Given the description of an element on the screen output the (x, y) to click on. 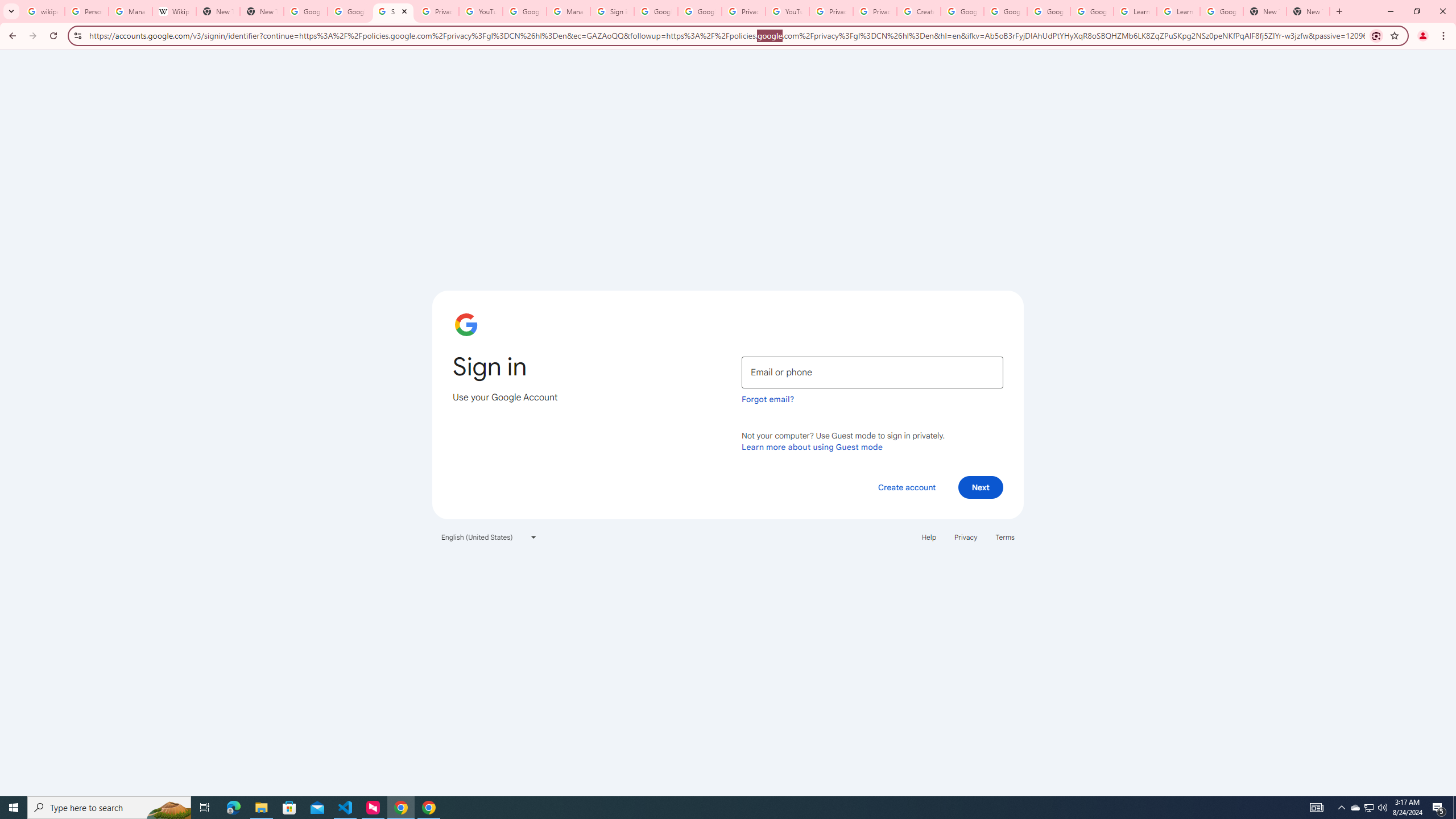
YouTube (786, 11)
Forgot email? (767, 398)
Google Account Help (1048, 11)
Search with Google Lens (1376, 35)
New Tab (1308, 11)
English (United States) (489, 536)
Email or phone (872, 372)
Personalization & Google Search results - Google Search Help (86, 11)
